Given the description of an element on the screen output the (x, y) to click on. 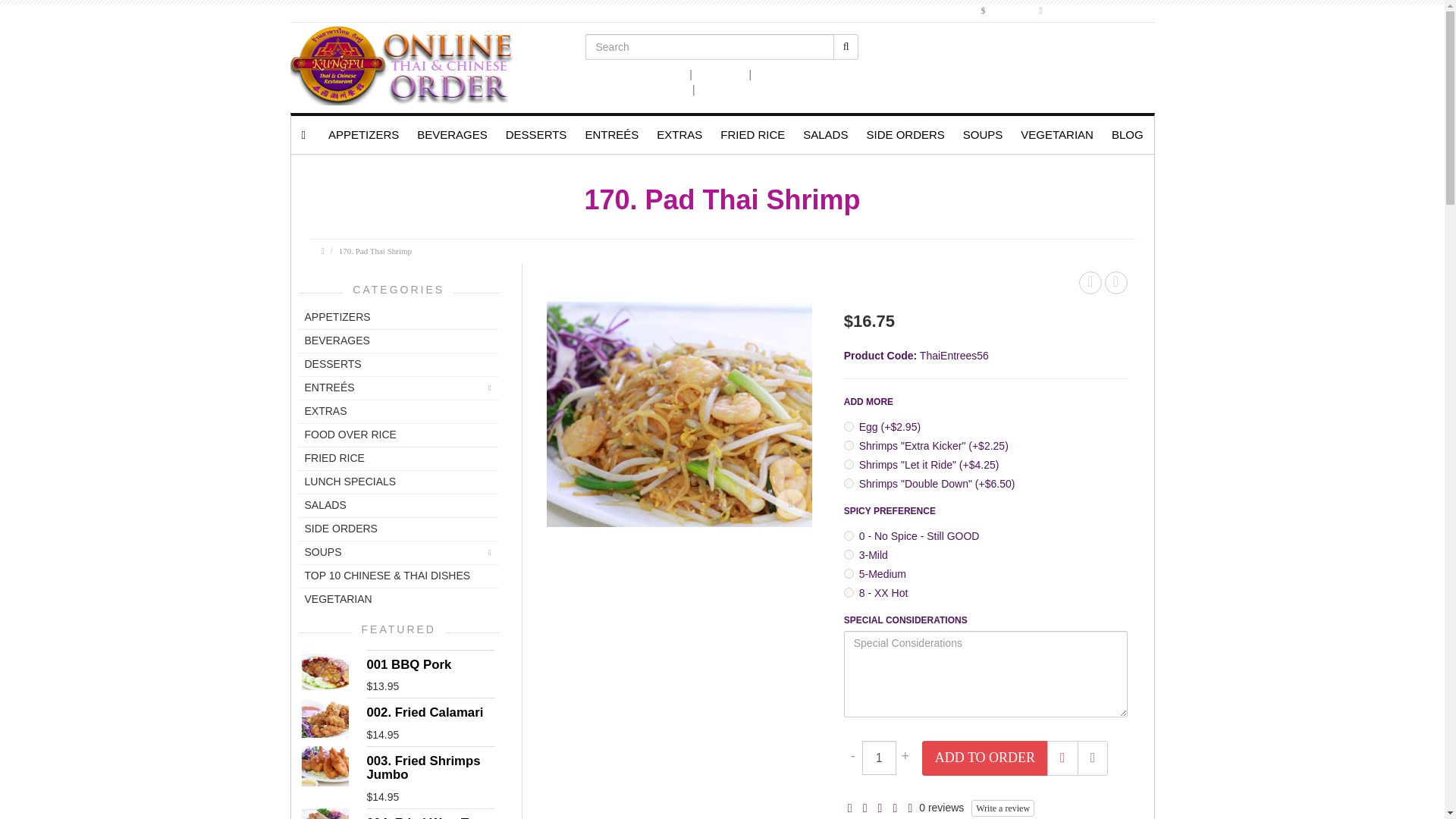
My Account (784, 73)
1239 (848, 535)
1240 (848, 554)
Our Menu (662, 89)
1 (878, 757)
879 (848, 483)
1242 (848, 592)
Checkout (720, 73)
878 (848, 464)
207 (848, 445)
MY ACCOUNT (1104, 9)
880 (848, 426)
002.  Fried Calamari (325, 717)
004.  Fried Won-Ton-Chips (325, 813)
1241 (848, 573)
